Given the description of an element on the screen output the (x, y) to click on. 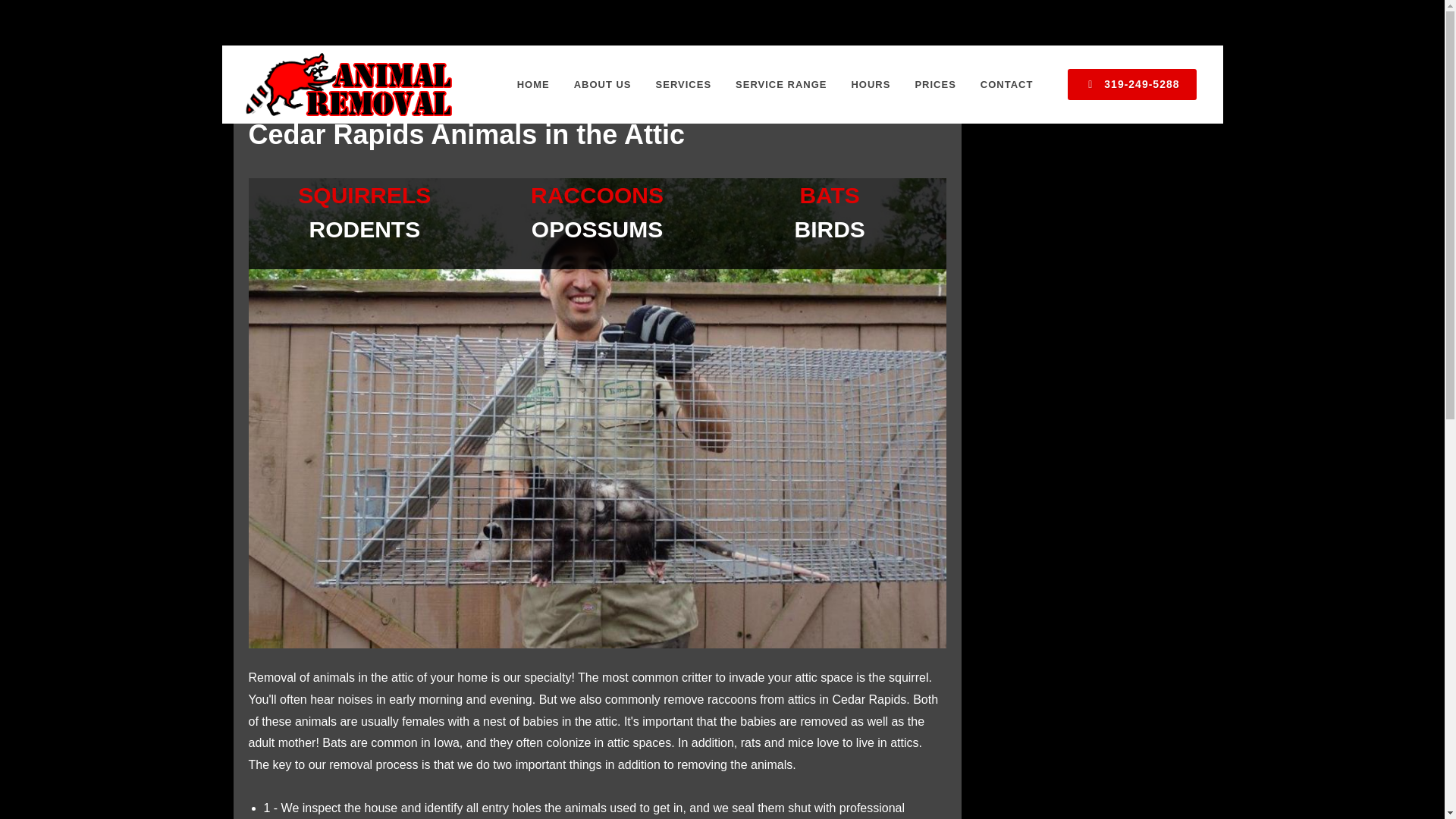
SERVICE RANGE (780, 84)
ABOUT US (602, 84)
CONTACT (1007, 84)
319-249-5288 (1131, 83)
SERVICES (684, 84)
